Given the description of an element on the screen output the (x, y) to click on. 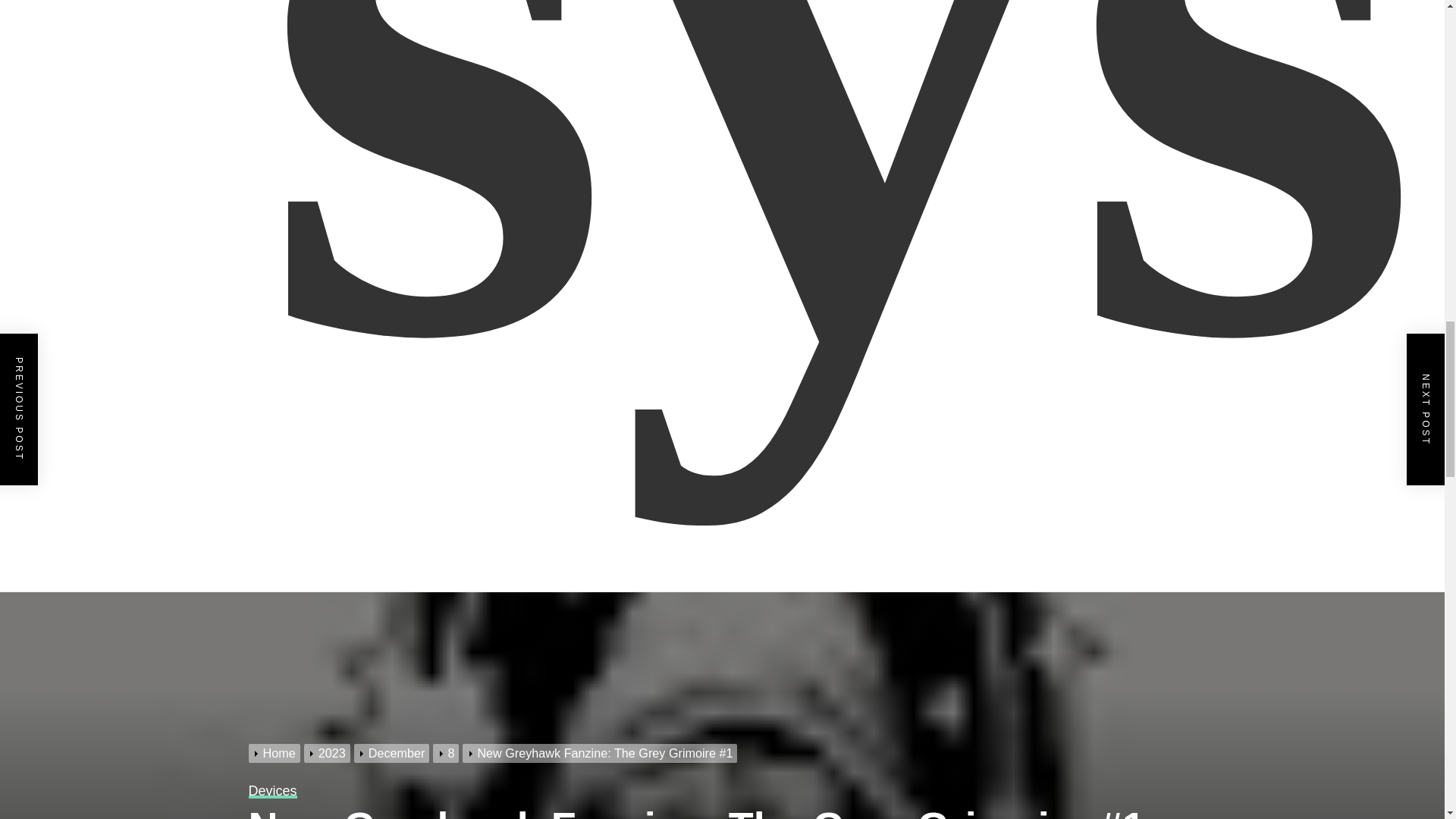
December (393, 753)
Home (276, 753)
8 (447, 753)
2023 (328, 753)
Devices (272, 790)
